Given the description of an element on the screen output the (x, y) to click on. 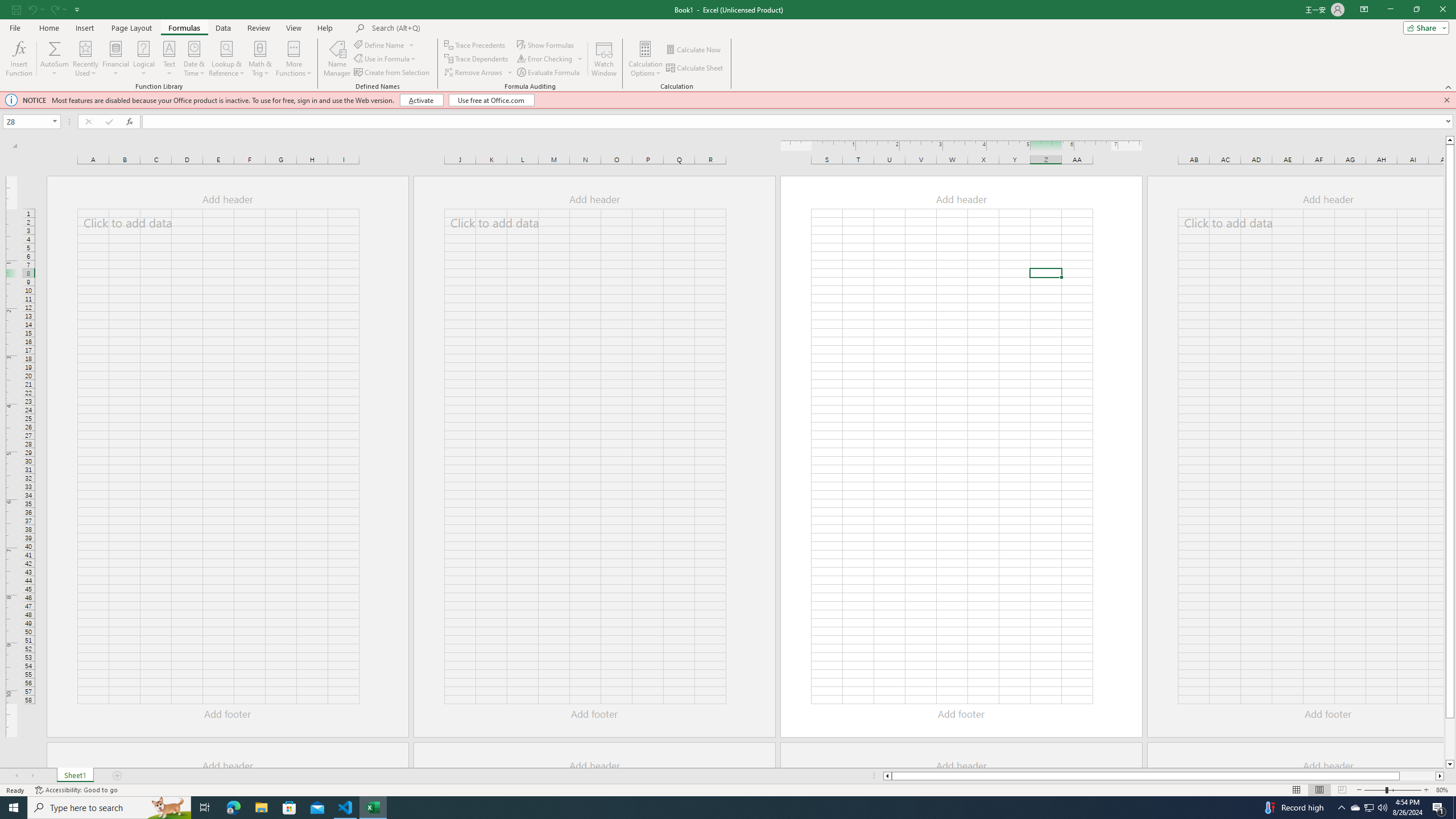
Watch Window (603, 58)
Name Manager (336, 58)
Error Checking... (545, 58)
Remove Arrows (478, 72)
Text (169, 58)
